Given the description of an element on the screen output the (x, y) to click on. 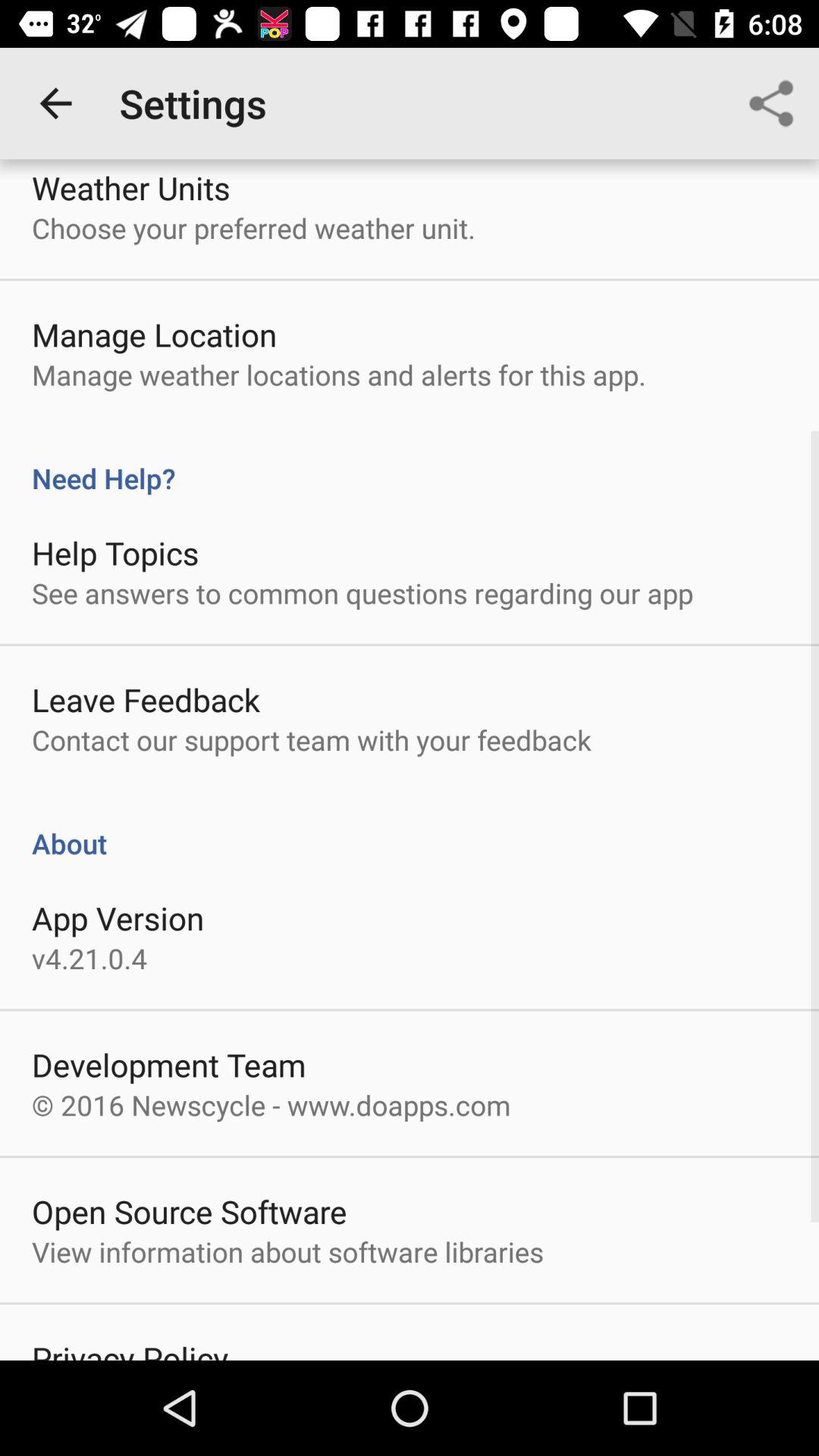
turn off the icon next to the settings  icon (55, 103)
